Given the description of an element on the screen output the (x, y) to click on. 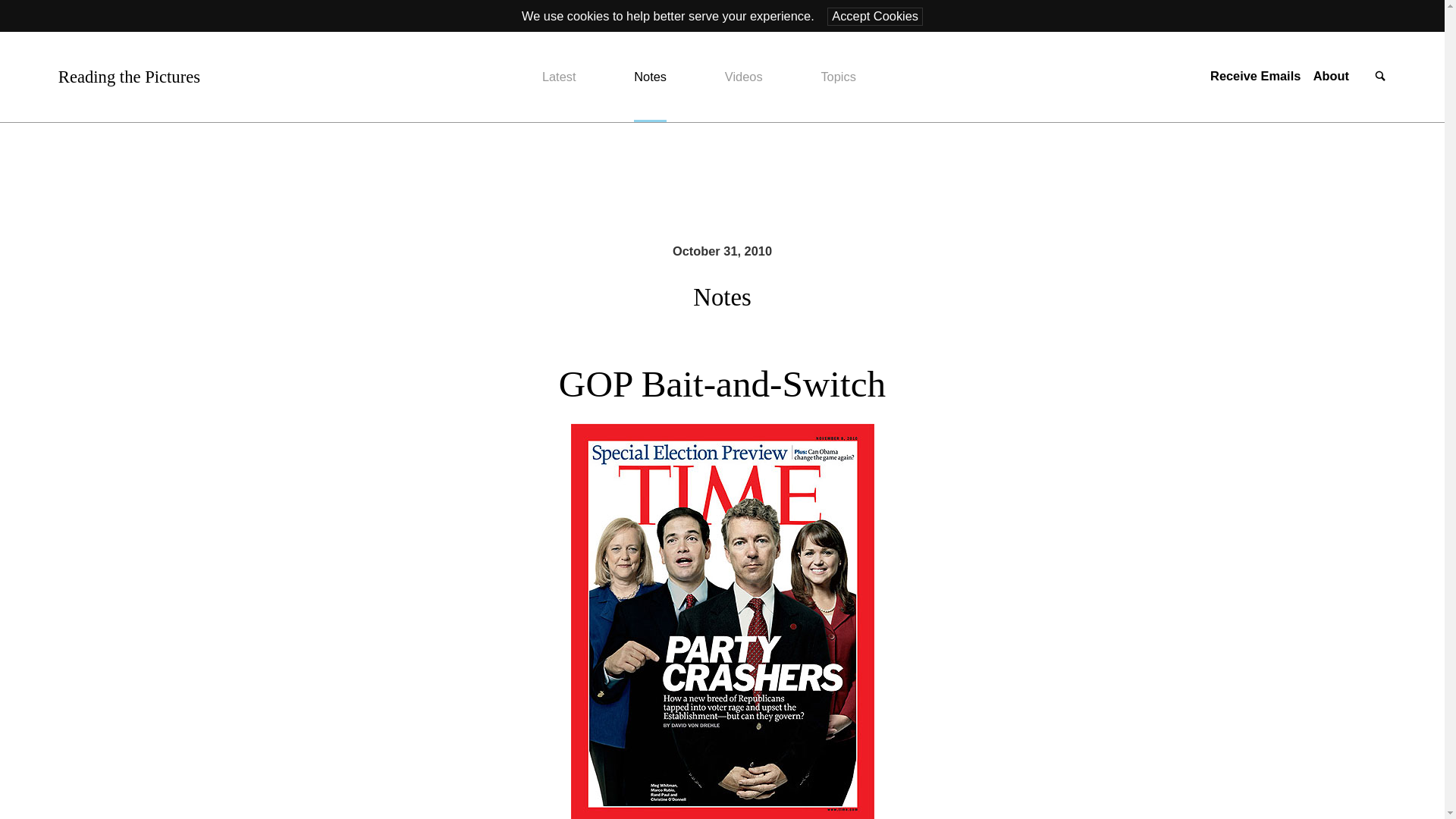
Reading the Pictures (129, 76)
Accept Cookies (875, 16)
About (1331, 75)
Newsletter Signup (1254, 75)
Receive Emails (1254, 75)
About (1331, 75)
search (1380, 78)
Reading the Pictures (129, 76)
